Given the description of an element on the screen output the (x, y) to click on. 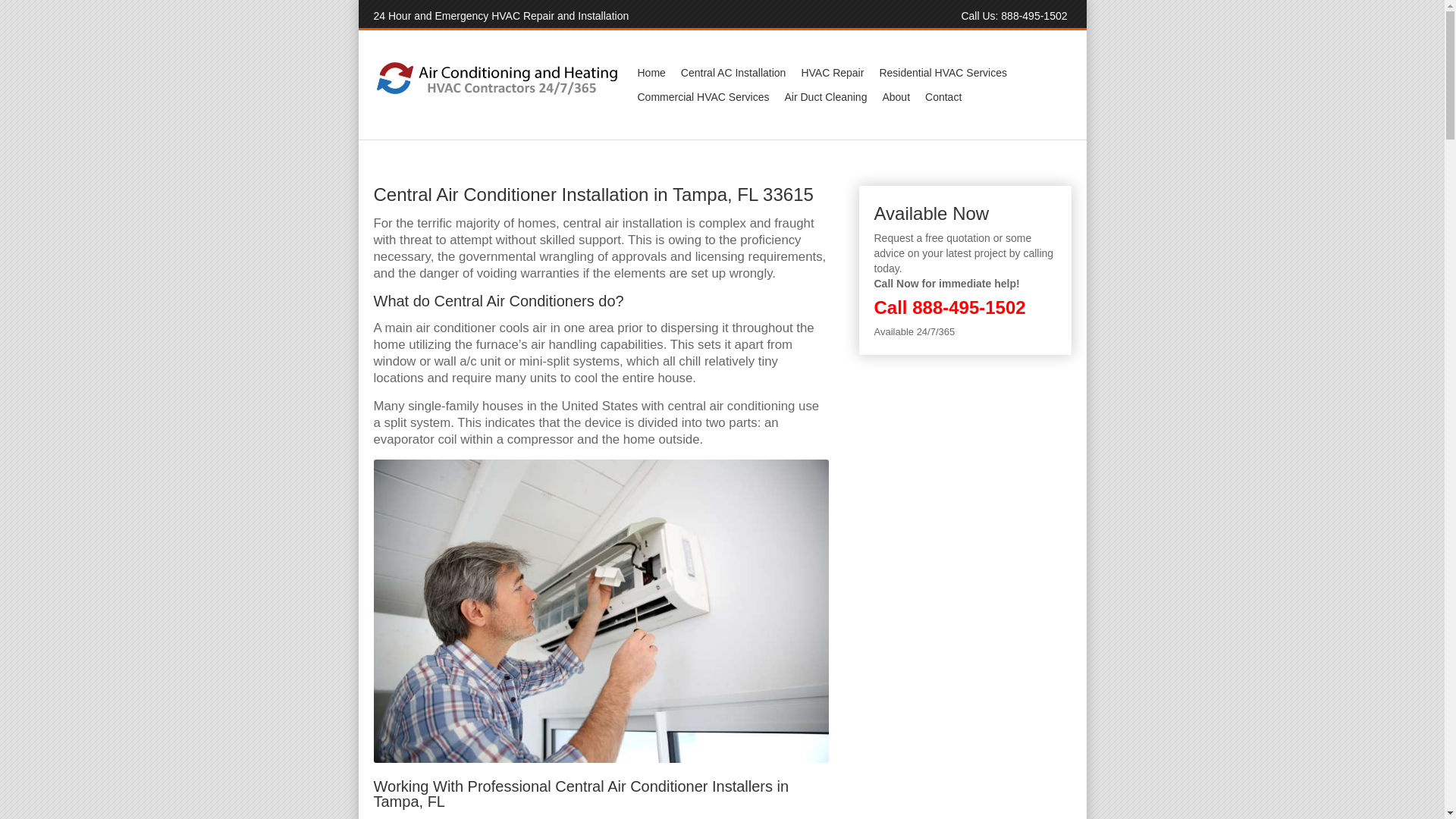
About (895, 96)
888-495-1502 (968, 307)
HVAC Repair (831, 72)
Contact (943, 96)
Central AC Installation (733, 72)
888-495-1502 (1034, 15)
Commercial HVAC Services (702, 96)
Residential HVAC Services (942, 72)
Home (650, 72)
